Given the description of an element on the screen output the (x, y) to click on. 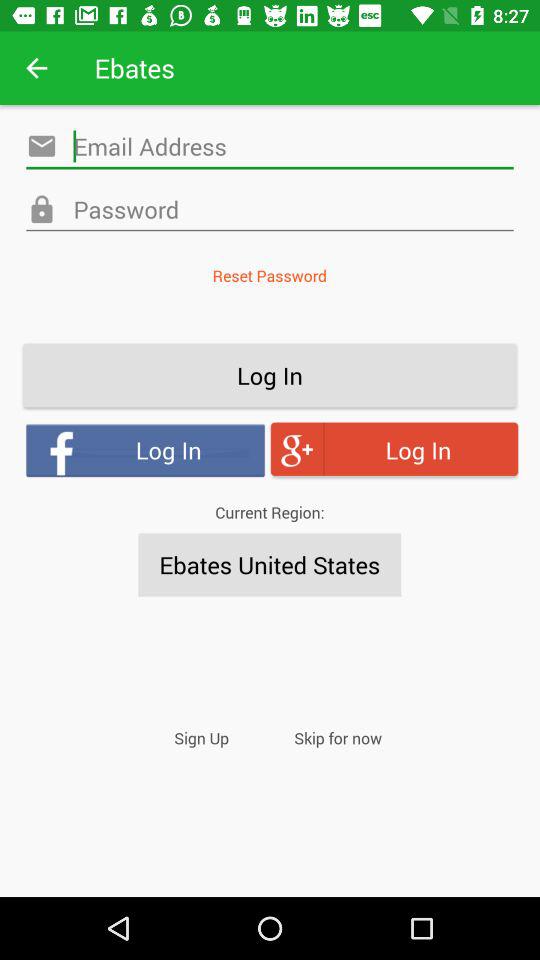
launch item above the reset password icon (270, 209)
